Given the description of an element on the screen output the (x, y) to click on. 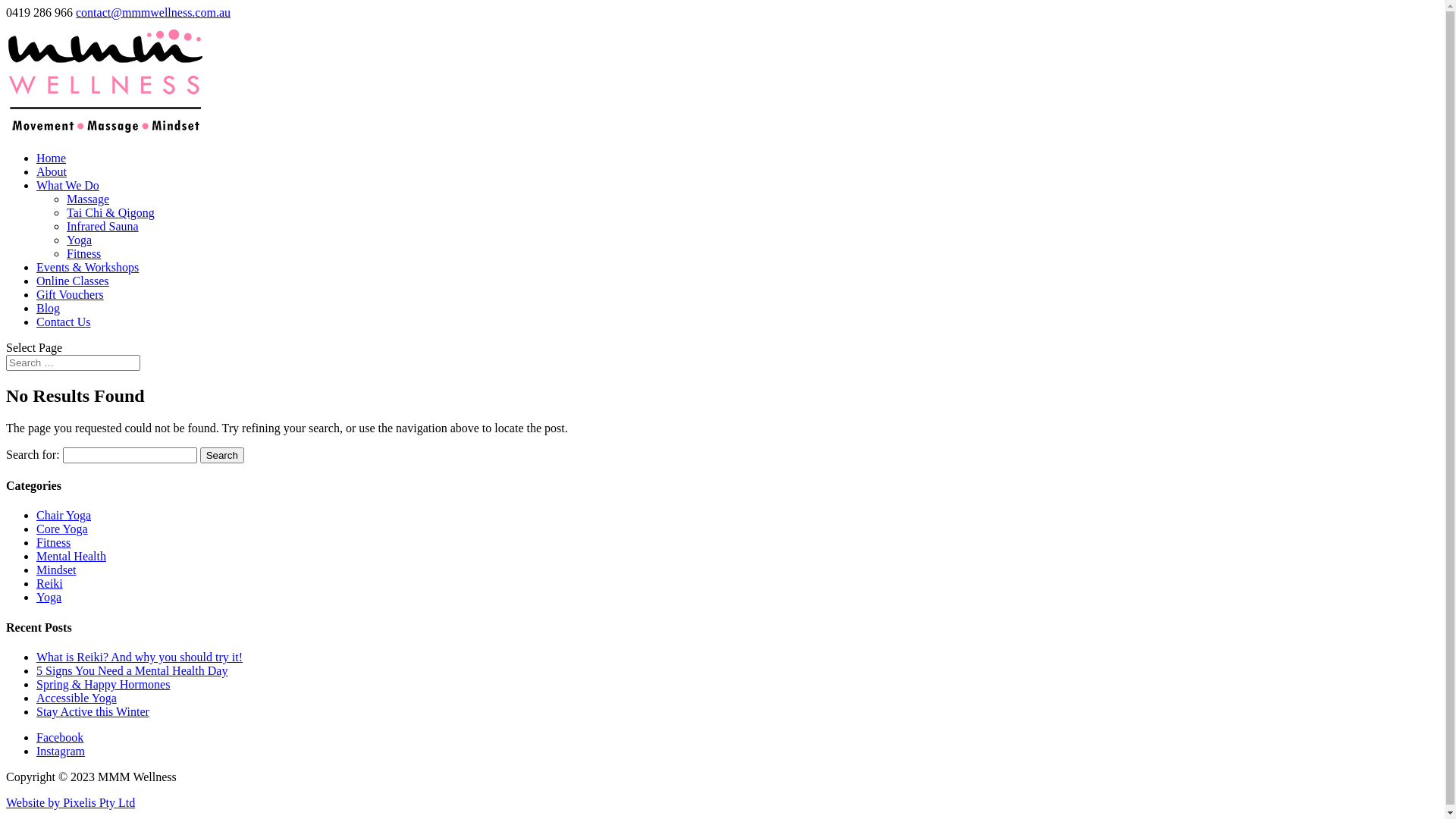
Blog Element type: text (47, 307)
Search for: Element type: hover (73, 362)
Chair Yoga Element type: text (63, 514)
Online Classes Element type: text (72, 280)
About Element type: text (51, 171)
Home Element type: text (50, 157)
Gift Vouchers Element type: text (69, 294)
Contact Us Element type: text (63, 321)
Infrared Sauna Element type: text (102, 225)
Yoga Element type: text (78, 239)
Tai Chi & Qigong Element type: text (110, 212)
Events & Workshops Element type: text (87, 266)
Spring & Happy Hormones Element type: text (102, 683)
Search Element type: text (222, 455)
What We Do Element type: text (67, 184)
contact@mmmwellness.com.au Element type: text (152, 12)
Facebook Element type: text (59, 737)
Fitness Element type: text (83, 253)
5 Signs You Need a Mental Health Day Element type: text (131, 670)
Fitness Element type: text (53, 542)
Mental Health Element type: text (71, 555)
Instagram Element type: text (60, 750)
Yoga Element type: text (48, 596)
Stay Active this Winter Element type: text (92, 711)
Website by Pixelis Pty Ltd Element type: text (70, 802)
Accessible Yoga Element type: text (76, 697)
Core Yoga Element type: text (61, 528)
Reiki Element type: text (49, 583)
Massage Element type: text (87, 198)
What is Reiki? And why you should try it! Element type: text (139, 656)
Mindset Element type: text (55, 569)
